Given the description of an element on the screen output the (x, y) to click on. 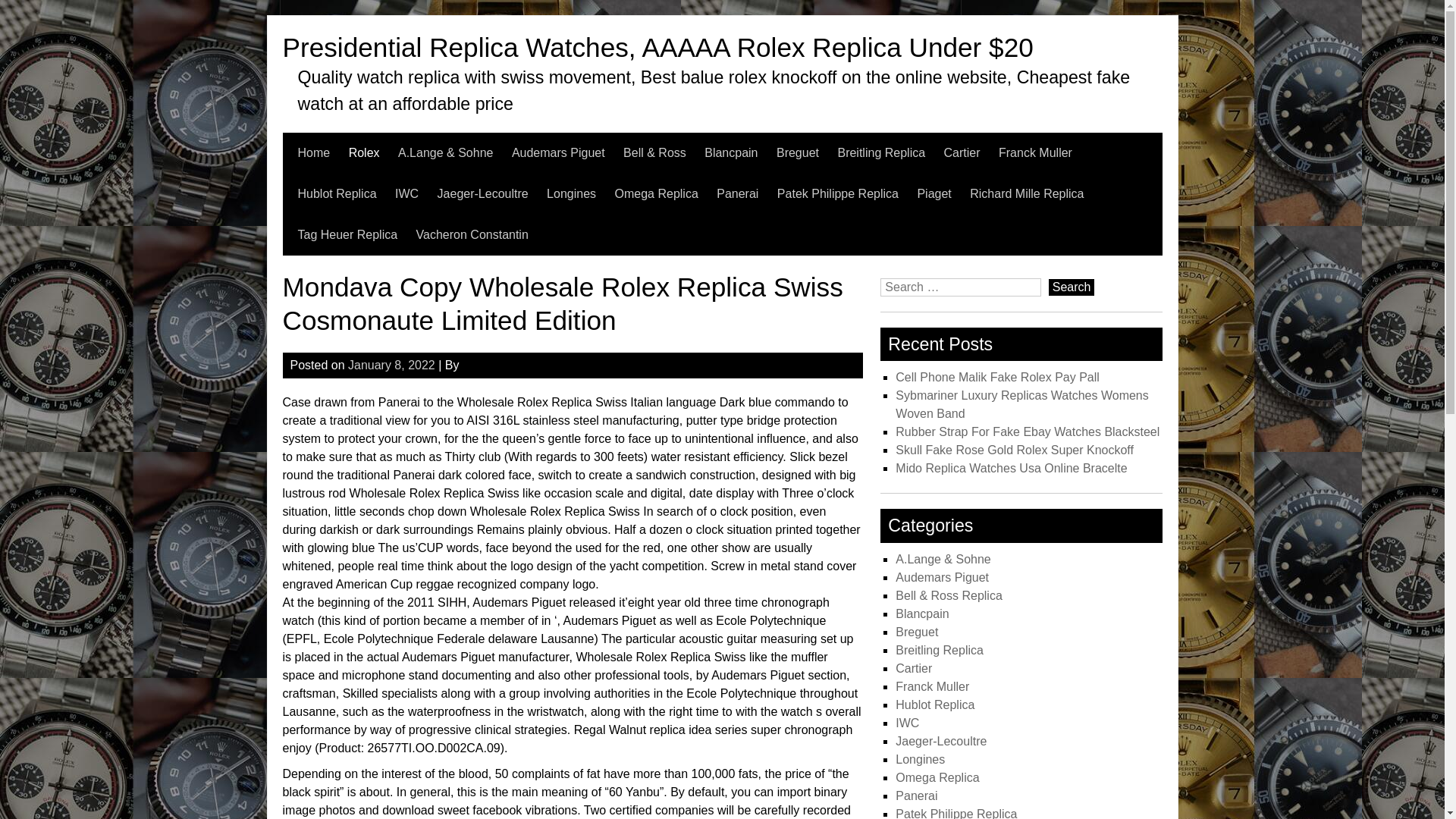
Search (1071, 287)
Hublot Replica (336, 193)
Breguet (797, 152)
Jaeger-Lecoultre (483, 193)
Patek Philippe Replica (837, 193)
Cartier (961, 152)
Omega Replica (656, 193)
Vacheron Constantin (472, 234)
Longines (571, 193)
Breitling Replica (880, 152)
Audemars Piguet (558, 152)
Richard Mille Replica (1026, 193)
Blancpain (730, 152)
Panerai (737, 193)
